Given the description of an element on the screen output the (x, y) to click on. 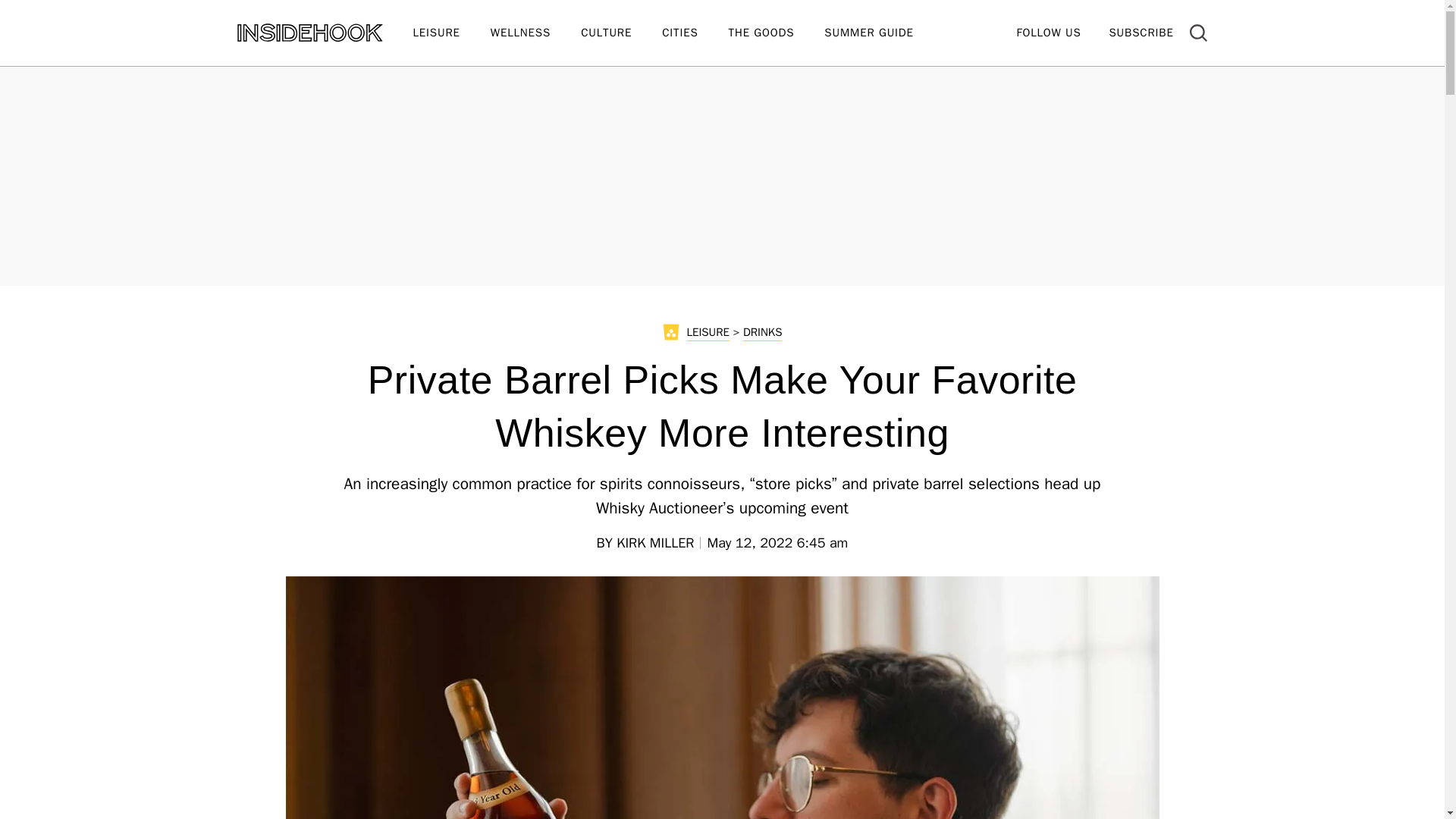
SUBSCRIBE (1140, 32)
SUMMER GUIDE (883, 32)
LEISURE (450, 32)
3rd party ad content (721, 174)
CITIES (695, 32)
THE GOODS (777, 32)
CULTURE (621, 32)
FOLLOW US (1048, 32)
WELLNESS (535, 32)
